Given the description of an element on the screen output the (x, y) to click on. 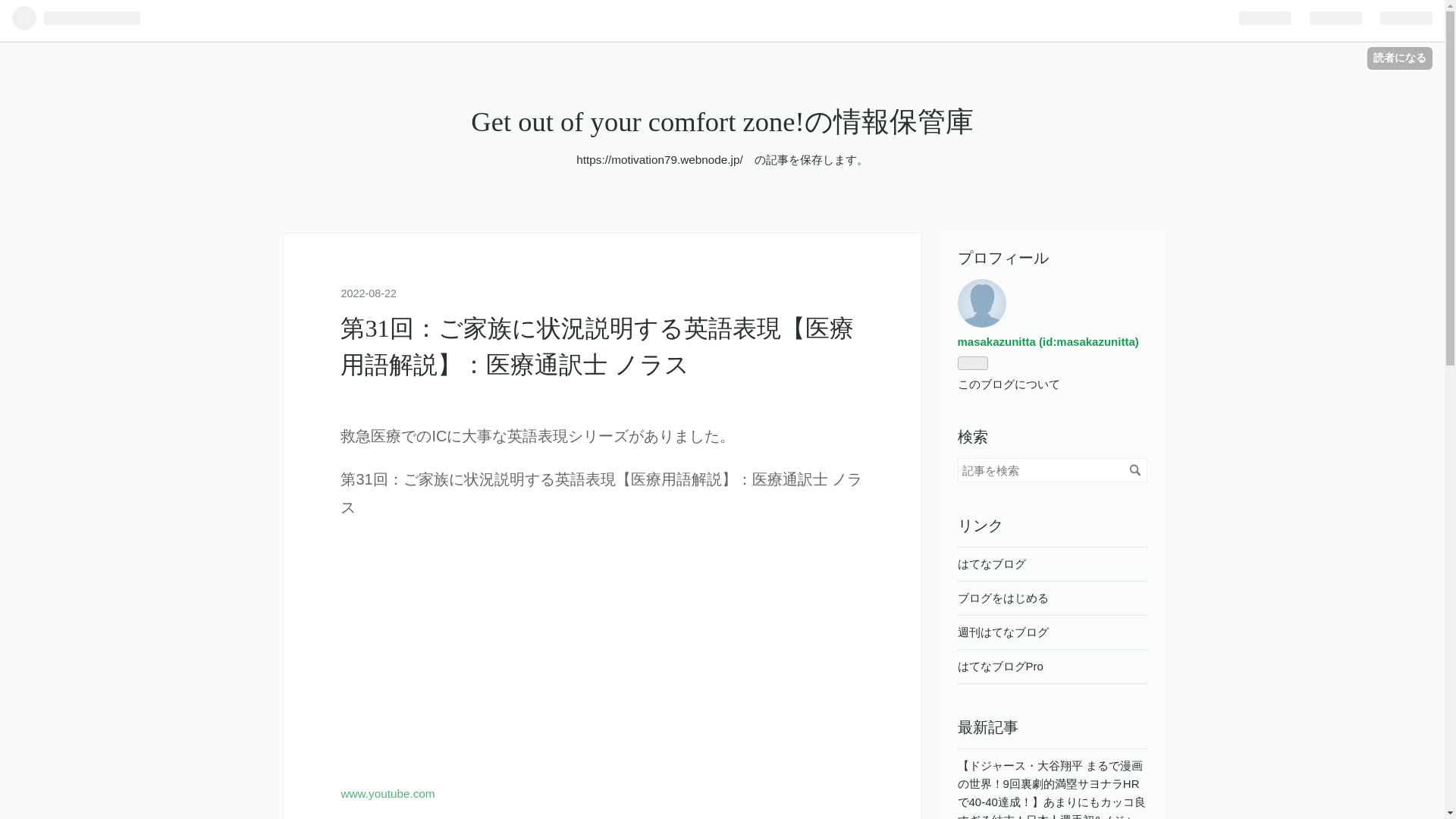
www.youtube.com (386, 793)
2022-08-22 (368, 293)
2022-08-22T08:43:05Z (368, 293)
